Given the description of an element on the screen output the (x, y) to click on. 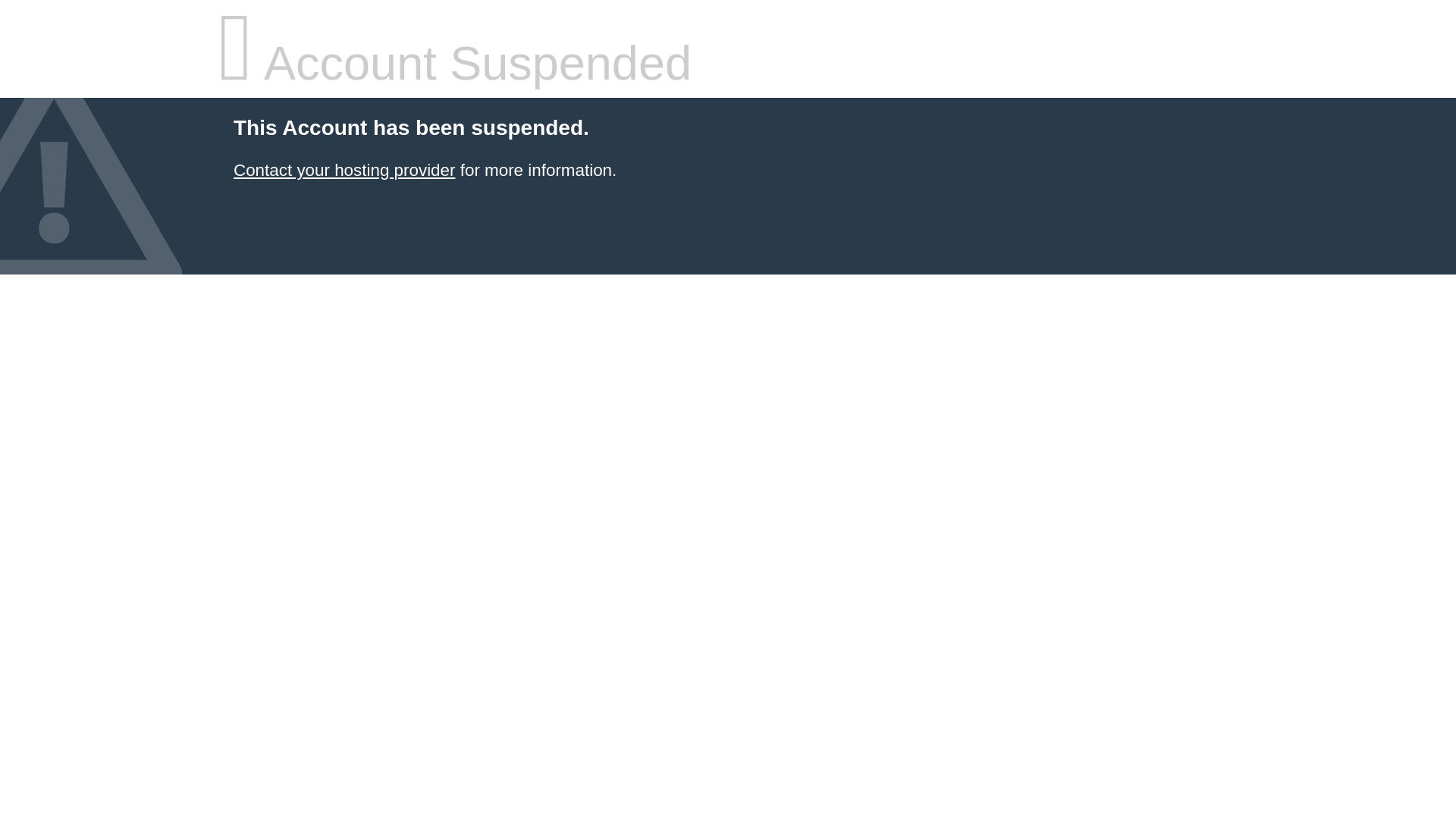
Contact your hosting provider (343, 169)
